Given the description of an element on the screen output the (x, y) to click on. 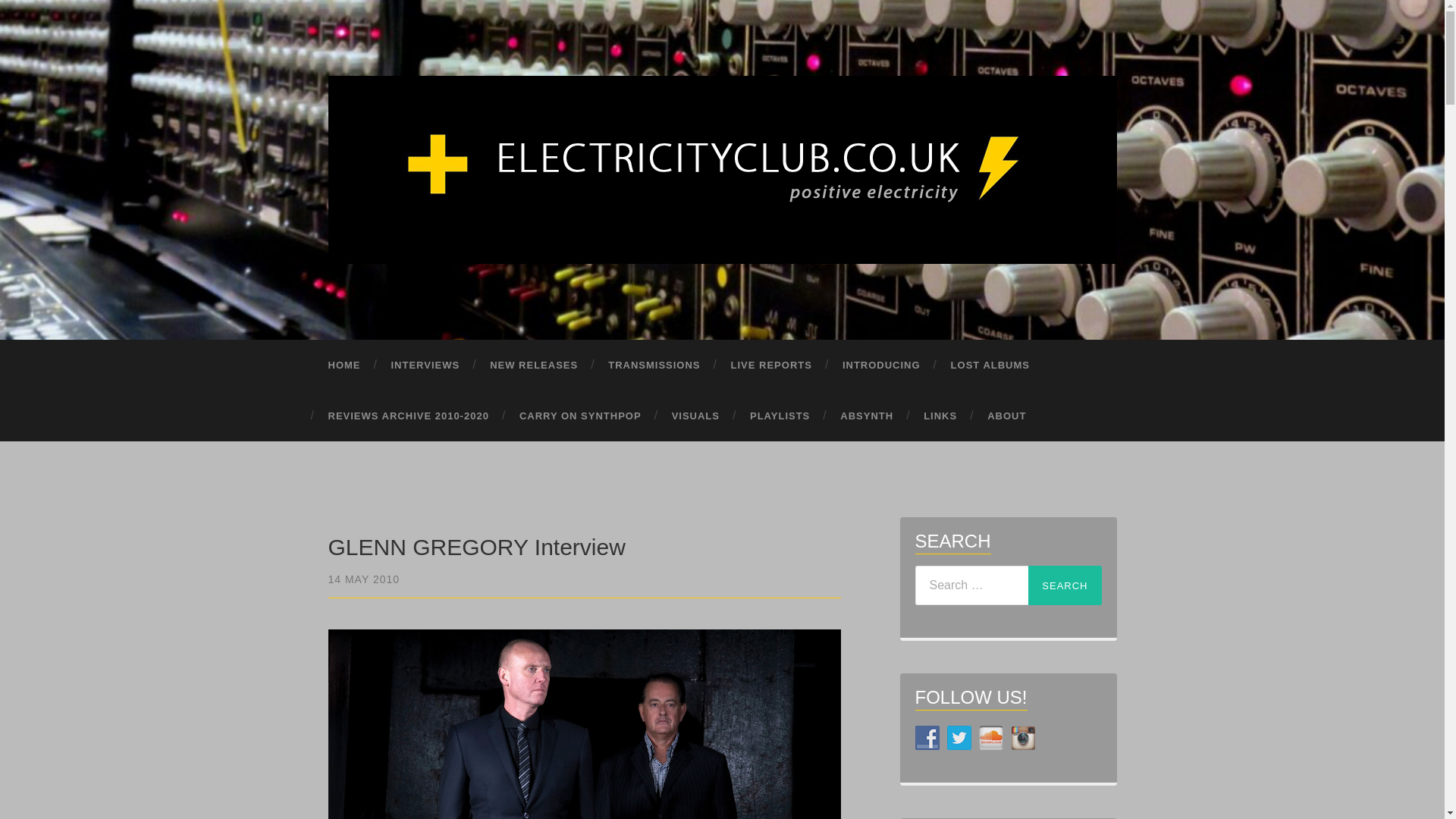
VISUALS (695, 415)
TRANSMISSIONS (653, 364)
ABOUT (1006, 415)
REVIEWS ARCHIVE 2010-2020 (408, 415)
NEW RELEASES (533, 364)
14 MAY 2010 (362, 579)
ELECTRICITYCLUB.CO.UK (721, 166)
Follow Us on Instagram (1021, 737)
CARRY ON SYNTHPOP (579, 415)
Search (1063, 585)
LINKS (940, 415)
ABSYNTH (866, 415)
GLENN GREGORY Interview (362, 579)
INTERVIEWS (425, 364)
LOST ALBUMS (990, 364)
